Given the description of an element on the screen output the (x, y) to click on. 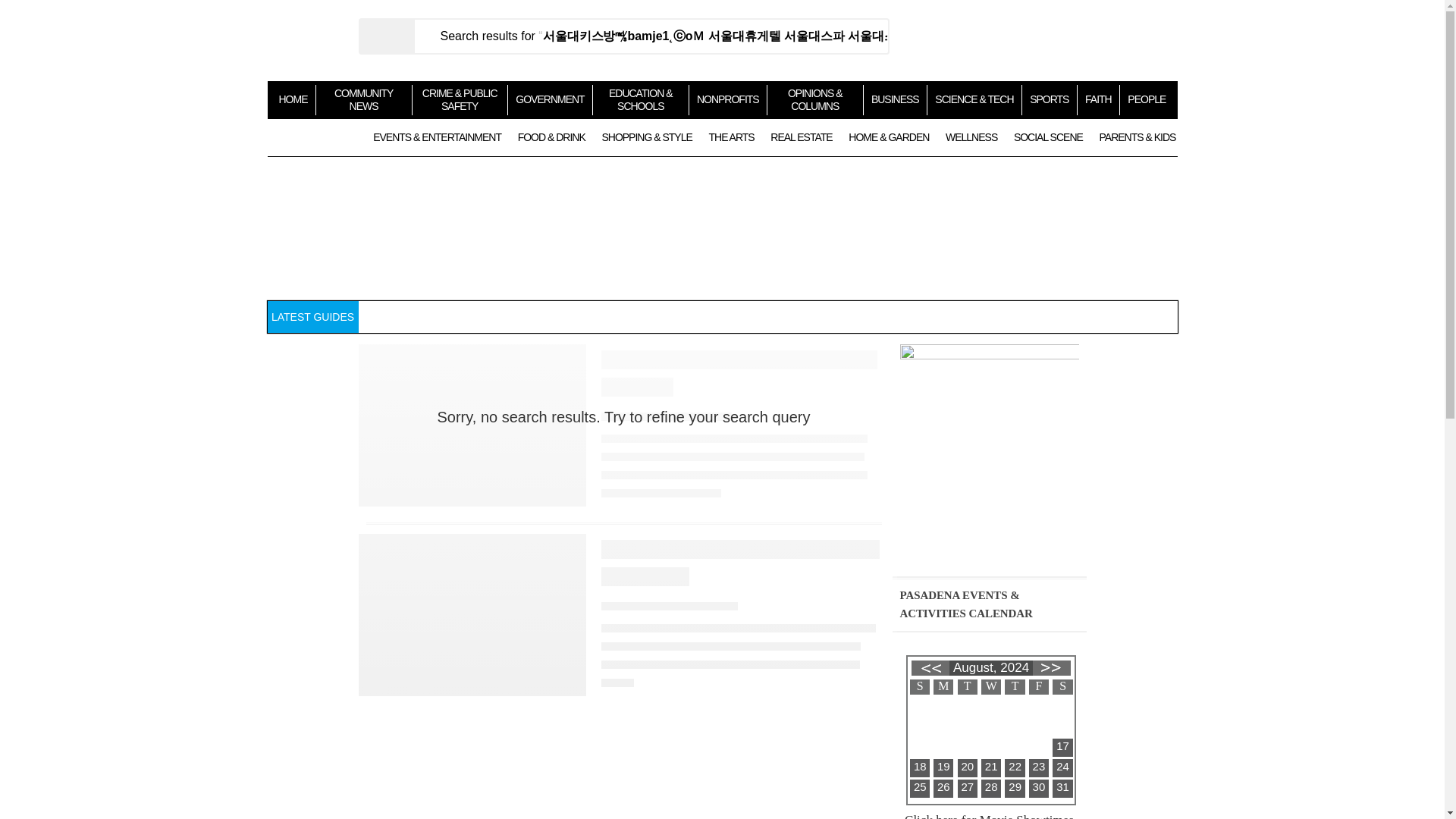
NONPROFITS (727, 99)
Search for (650, 36)
Search (385, 36)
REAL ESTATE (800, 137)
COMMUNITY NEWS (363, 98)
WEEKENDR (312, 137)
PEOPLE (1146, 99)
SOCIAL SCENE (1048, 137)
GOVERNMENT (549, 99)
BUSINESS (894, 99)
